Given the description of an element on the screen output the (x, y) to click on. 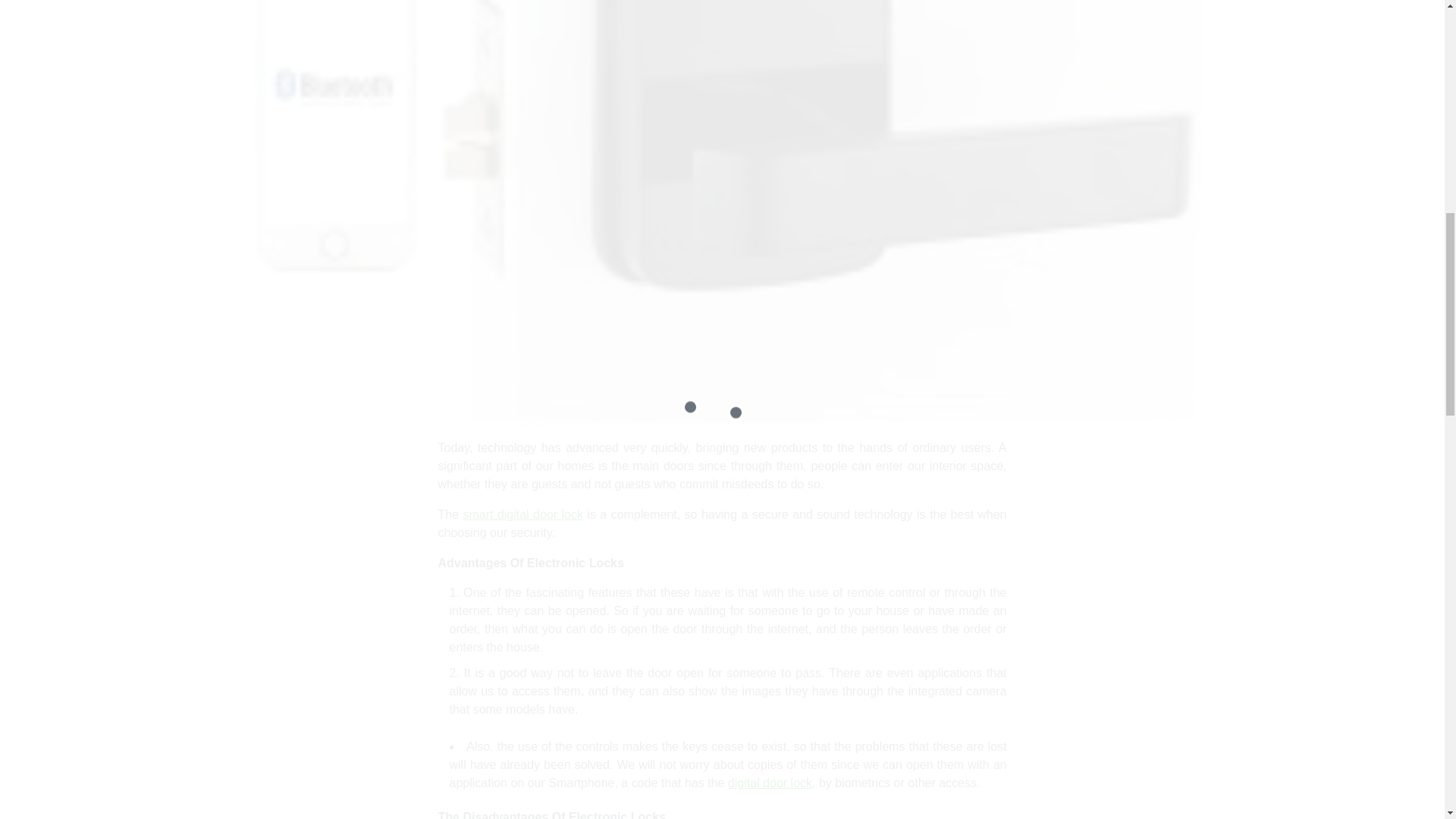
smart digital door lock (522, 513)
digital door lock (770, 782)
